Given the description of an element on the screen output the (x, y) to click on. 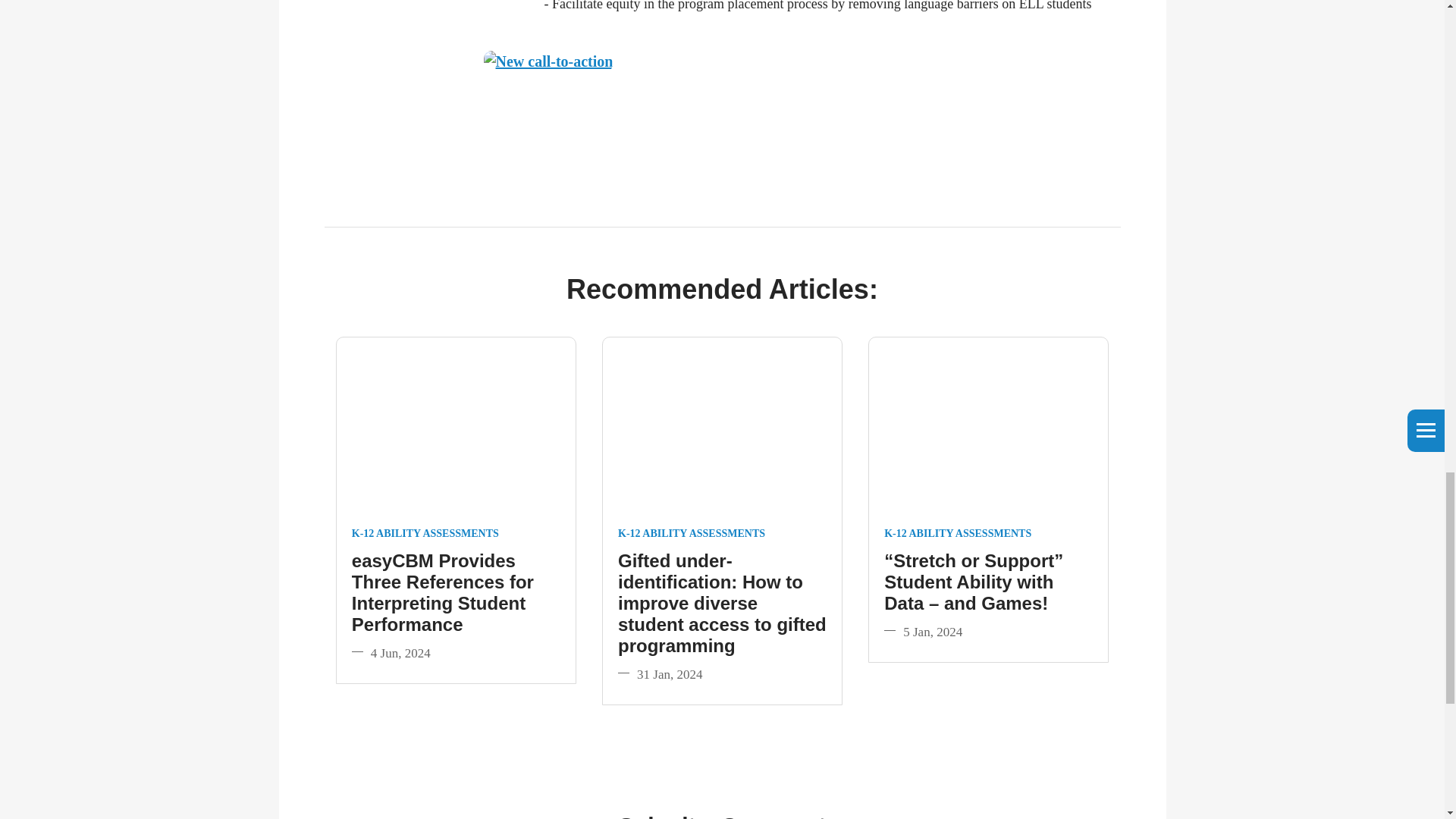
K-12 ABILITY ASSESSMENTS (956, 533)
K-12 ABILITY ASSESSMENTS (691, 533)
K-12 ABILITY ASSESSMENTS (425, 533)
